Given the description of an element on the screen output the (x, y) to click on. 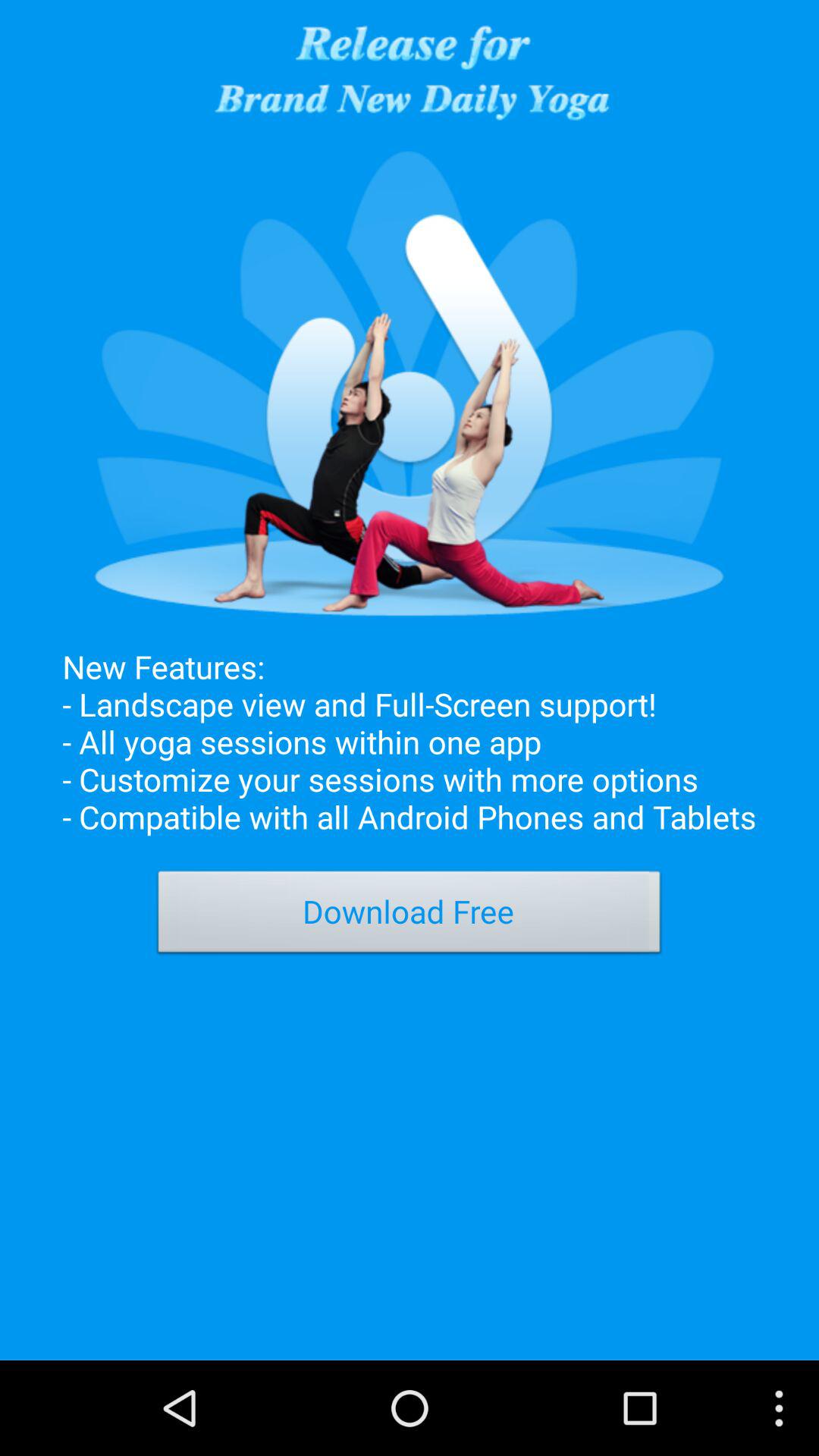
choose icon below new features landscape (409, 916)
